Given the description of an element on the screen output the (x, y) to click on. 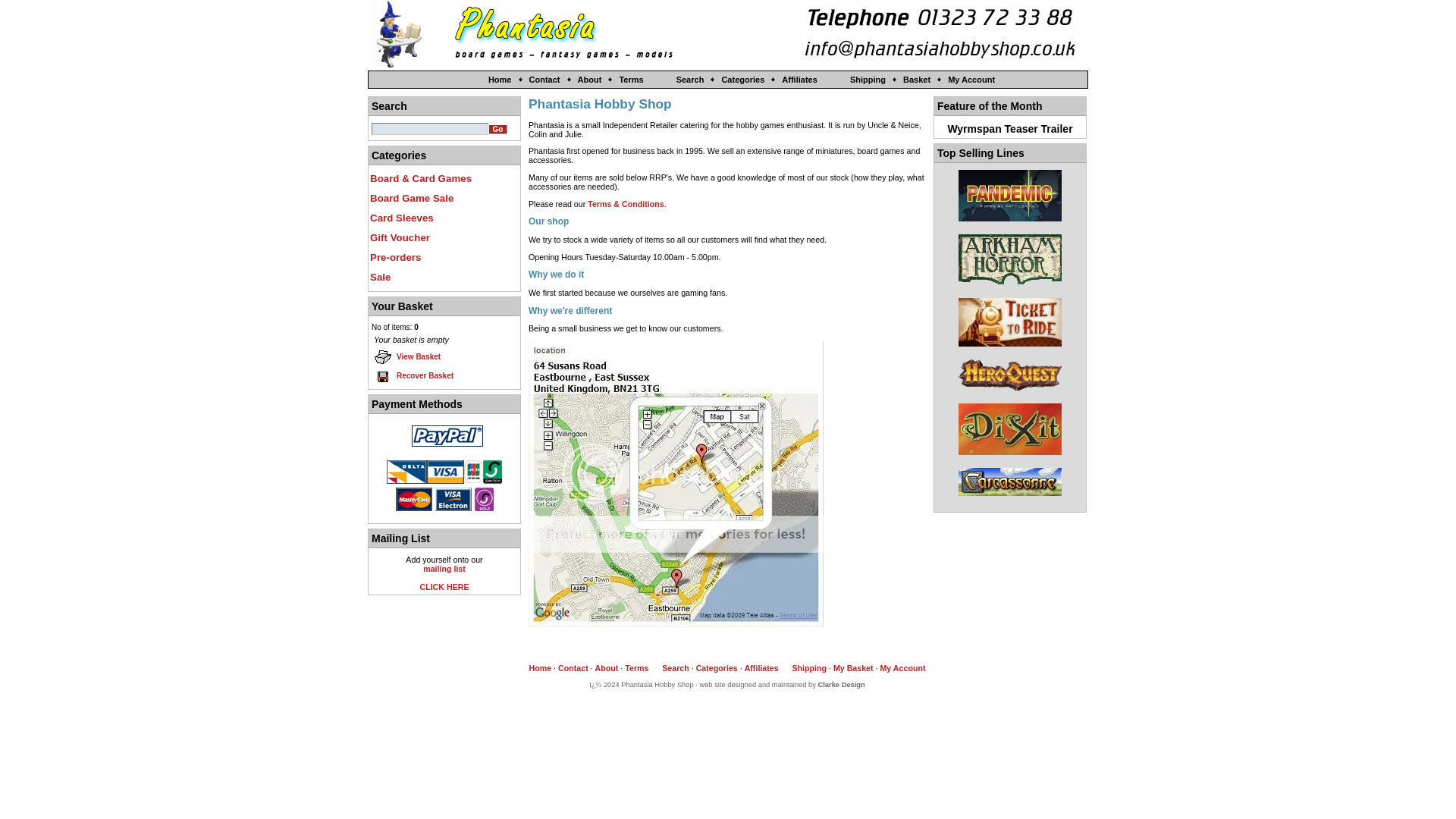
Basket (909, 79)
Home (540, 667)
Terms (635, 667)
Contact (572, 667)
Phantasia Hobby Shop (572, 34)
Phantasia Hobby Shop (652, 34)
Categories (716, 667)
About (606, 667)
Search (683, 79)
Terms and Conditions (635, 667)
Carcassonne (1009, 481)
Phantasia Hobby Shop (492, 34)
Ticket To Ride (1009, 322)
mailing list (444, 568)
Gift Voucher (443, 237)
